Given the description of an element on the screen output the (x, y) to click on. 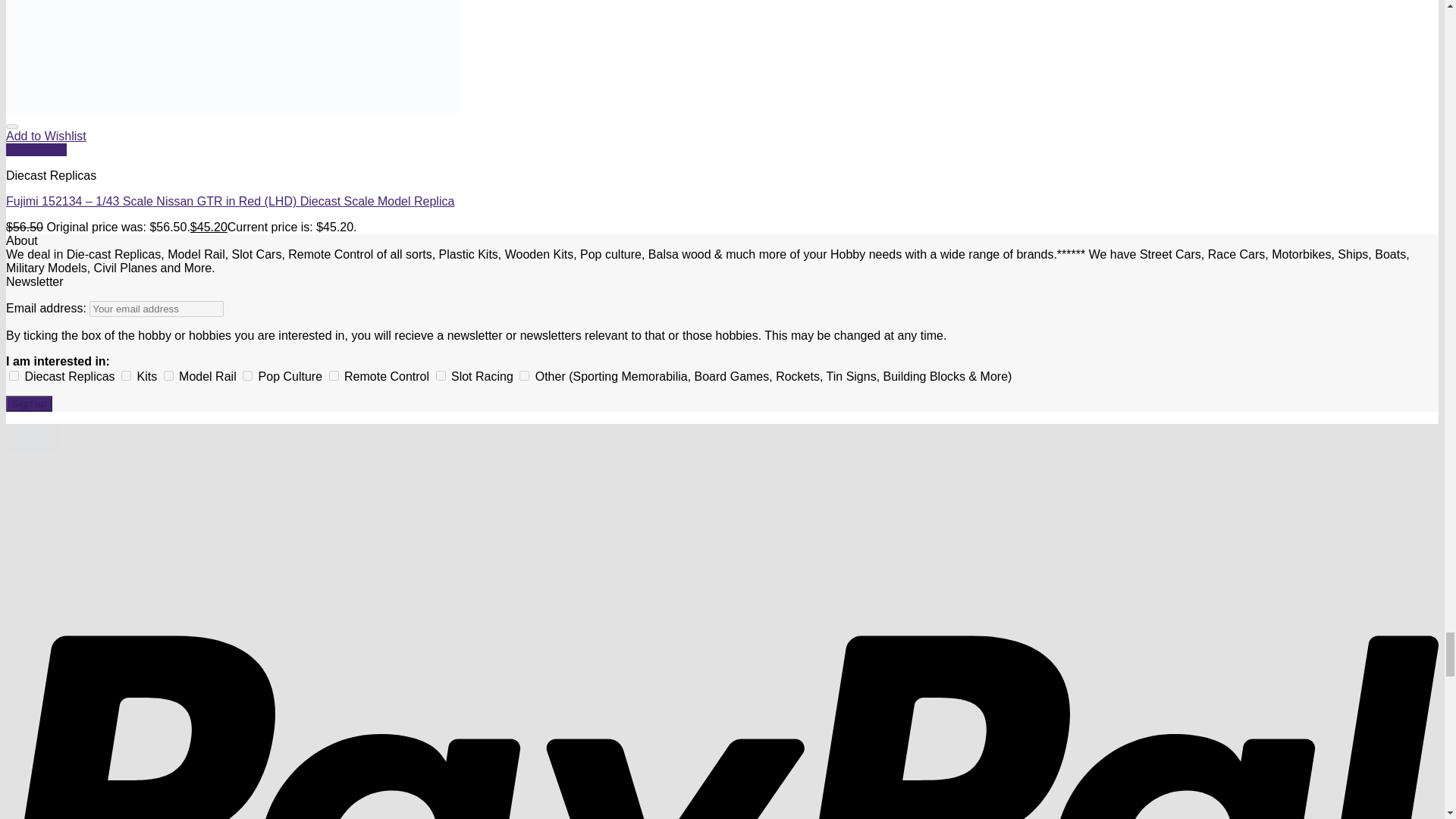
62853 (524, 375)
62833 (125, 375)
62829 (13, 375)
62837 (168, 375)
62841 (247, 375)
Sign up (28, 403)
62849 (440, 375)
62845 (334, 375)
